Given the description of an element on the screen output the (x, y) to click on. 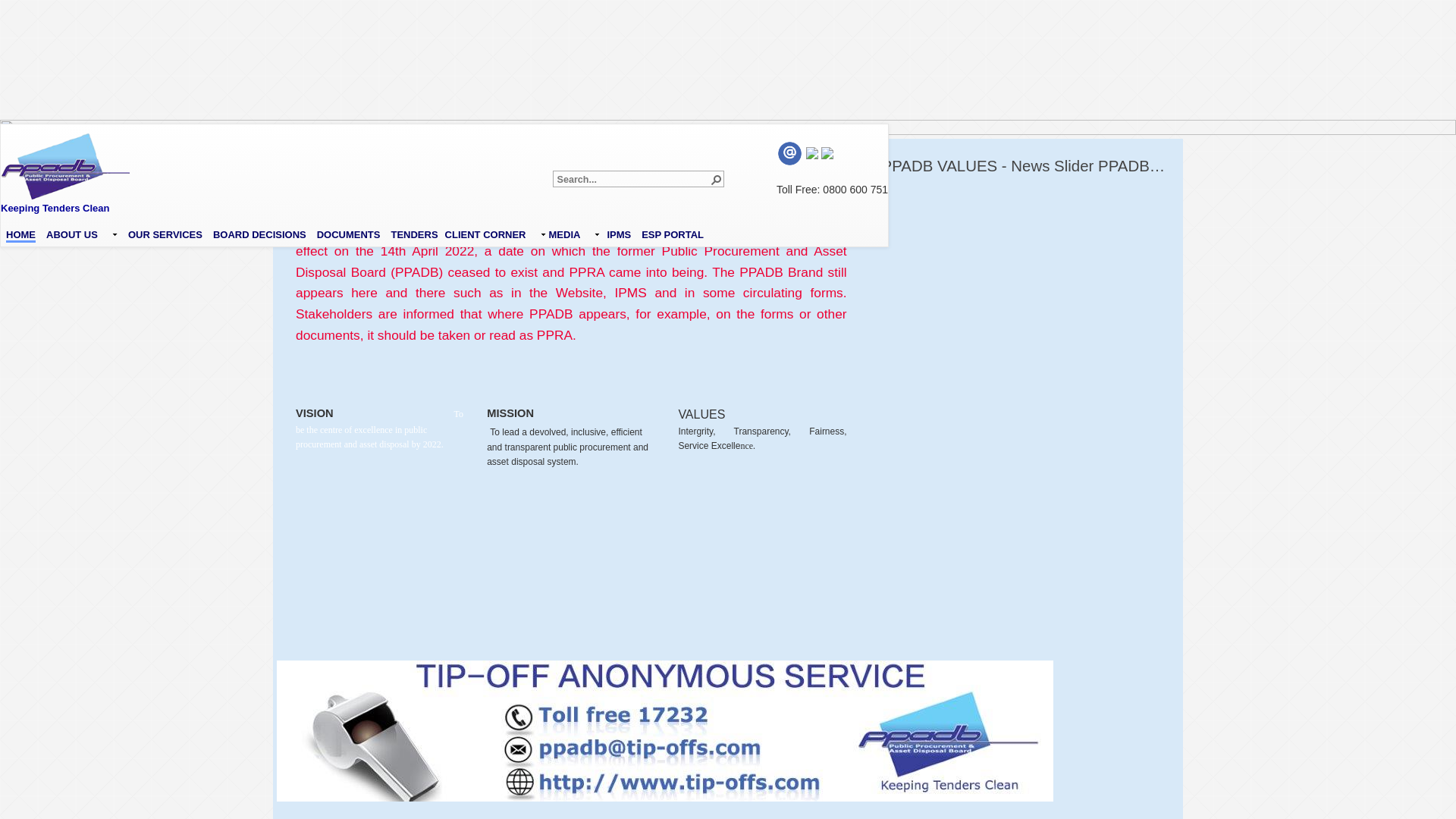
TENDERS Element type: text (413, 231)
OUR SERVICES Element type: text (165, 231)
DOCUMENTS Element type: text (348, 231)
IPMS Element type: text (618, 231)
HOME Element type: text (20, 231)
BOARD DECISIONS Element type: text (259, 231)
Search... Element type: hover (632, 179)
Search Element type: hover (715, 178)
PPADB VALUES Element type: text (1156, 165)
ESP PORTAL Element type: text (672, 231)
ABOUT US Element type: text (81, 231)
Keeping Tenders Clean Element type: text (64, 184)
